Given the description of an element on the screen output the (x, y) to click on. 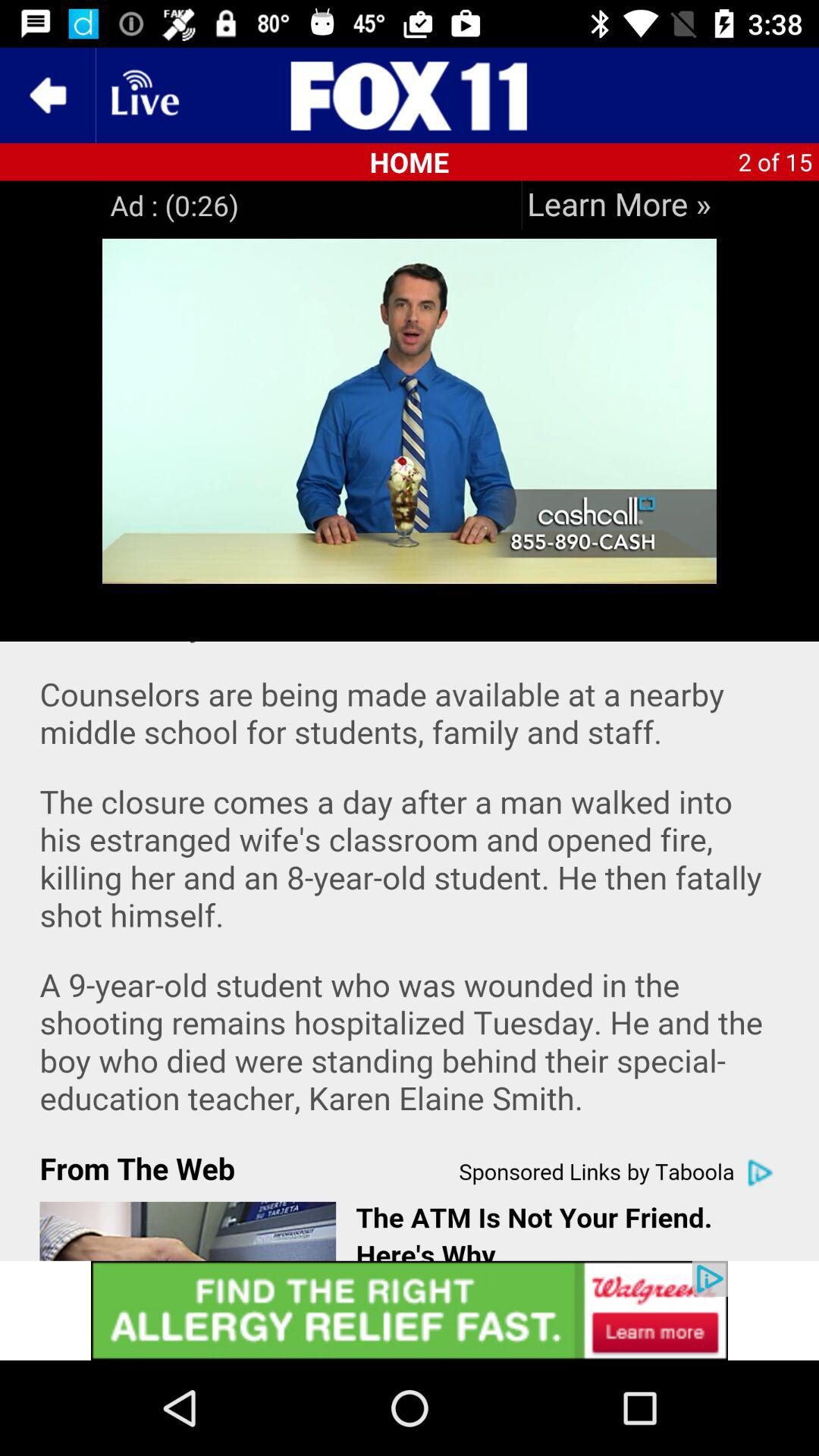
go back (47, 95)
